Given the description of an element on the screen output the (x, y) to click on. 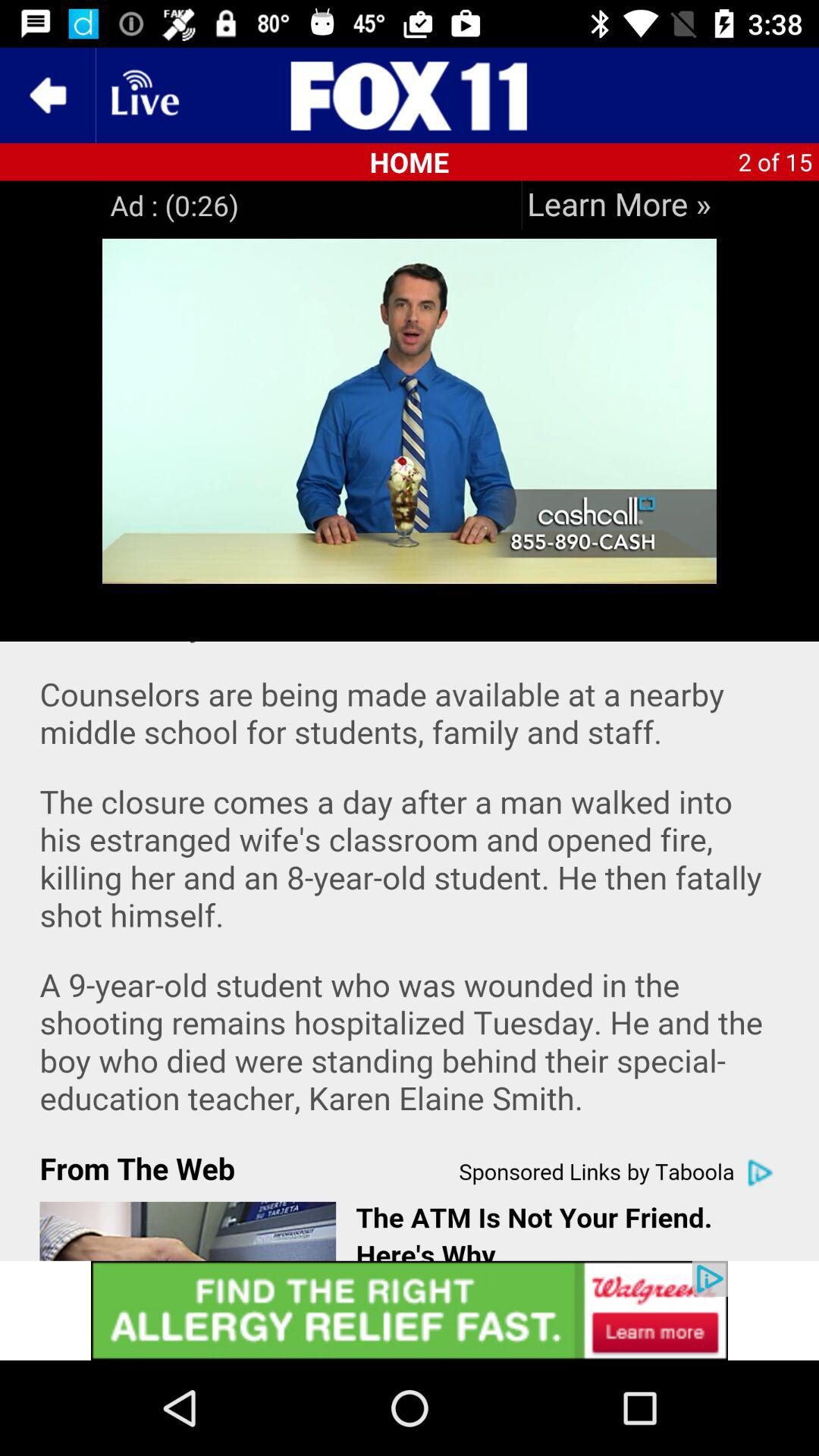
go back (47, 95)
